Given the description of an element on the screen output the (x, y) to click on. 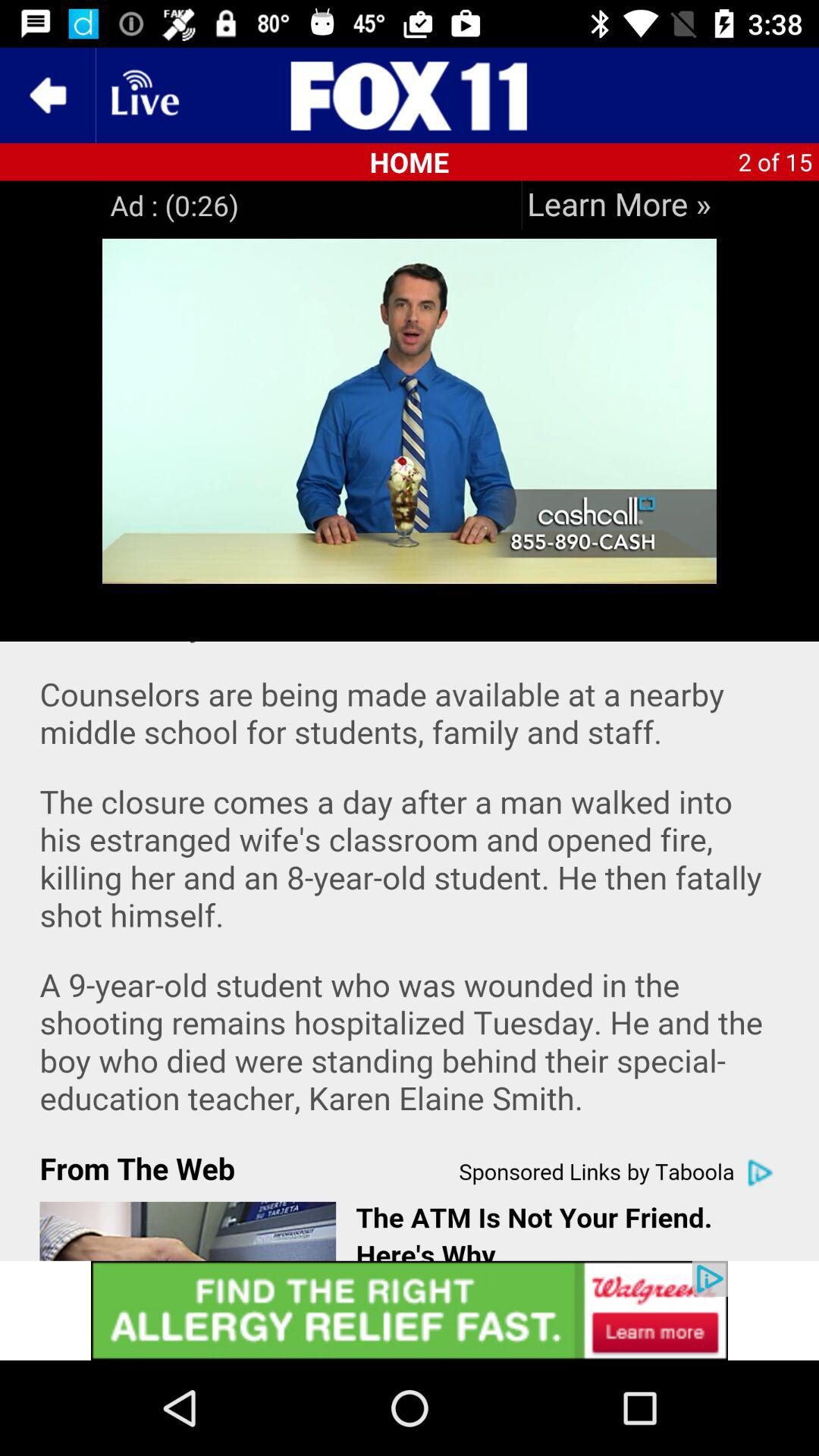
go back (47, 95)
